Given the description of an element on the screen output the (x, y) to click on. 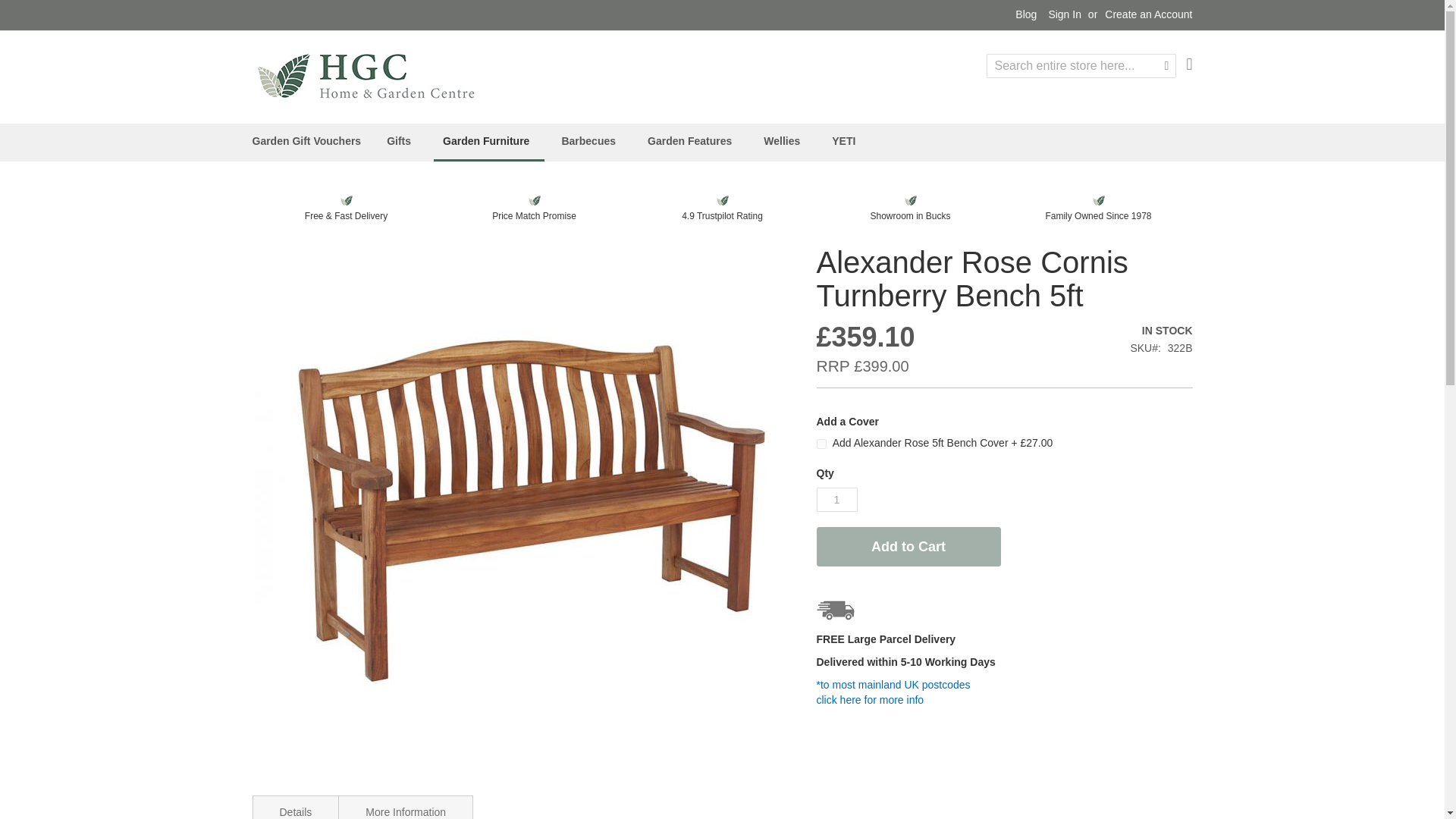
Add to Cart (907, 546)
Sign In (1064, 14)
1 (836, 499)
191 (820, 443)
Garden Furniture (488, 142)
Garden Gift Vouchers (306, 140)
Search (1166, 65)
My Cart (1189, 64)
Blog (1025, 14)
Gifts (401, 140)
Search (1166, 65)
Availability (1160, 331)
Create an Account (1148, 14)
Qty (836, 499)
